Given the description of an element on the screen output the (x, y) to click on. 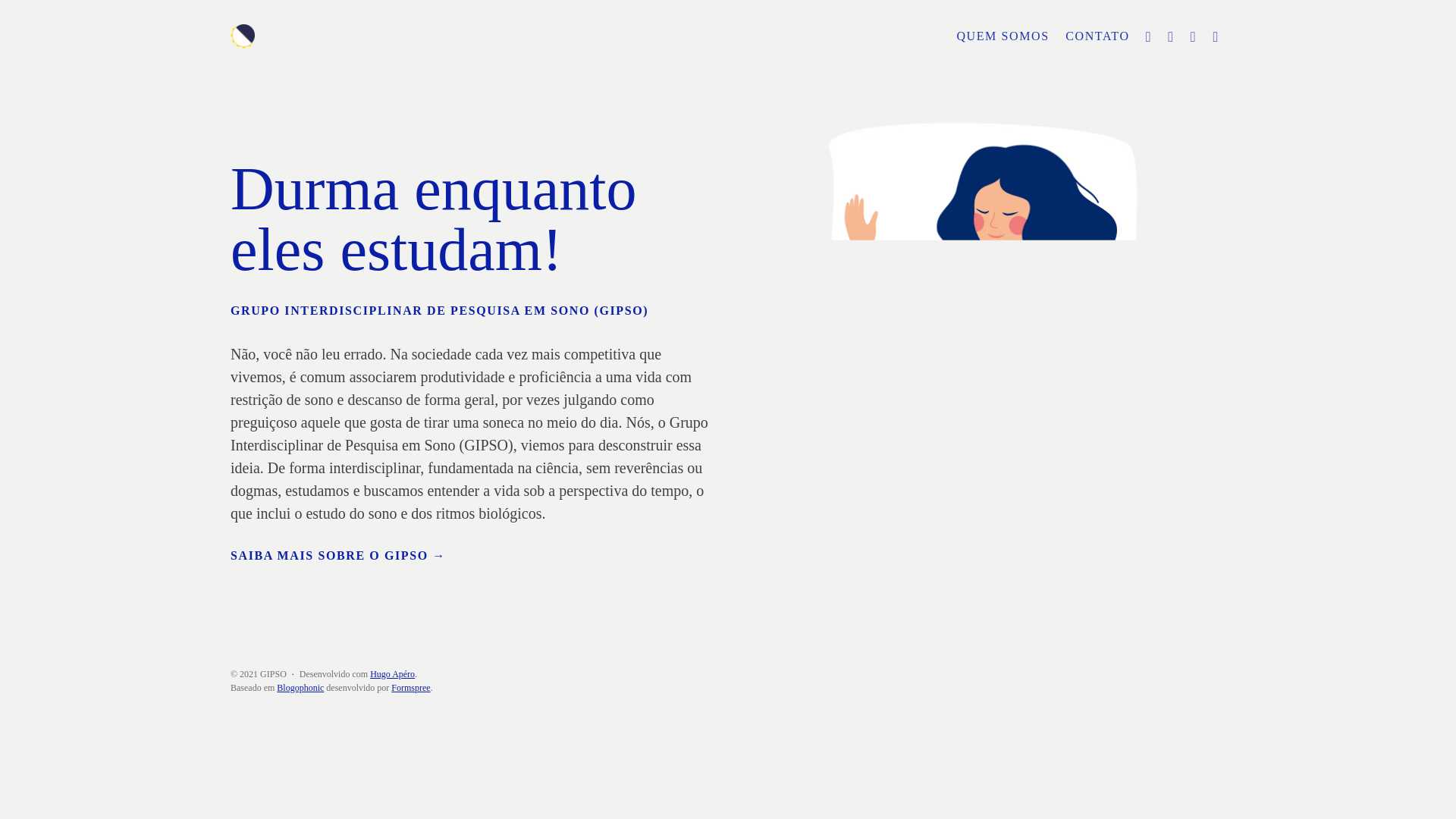
Blogophonic Element type: text (299, 687)
youtube Element type: hover (1190, 37)
instagram Element type: hover (1168, 37)
QUEM SOMOS Element type: text (1002, 36)
Home Element type: hover (394, 36)
github Element type: hover (1213, 37)
CONTATO Element type: text (1097, 36)
twitter Element type: hover (1145, 37)
Formspree Element type: text (410, 687)
